Given the description of an element on the screen output the (x, y) to click on. 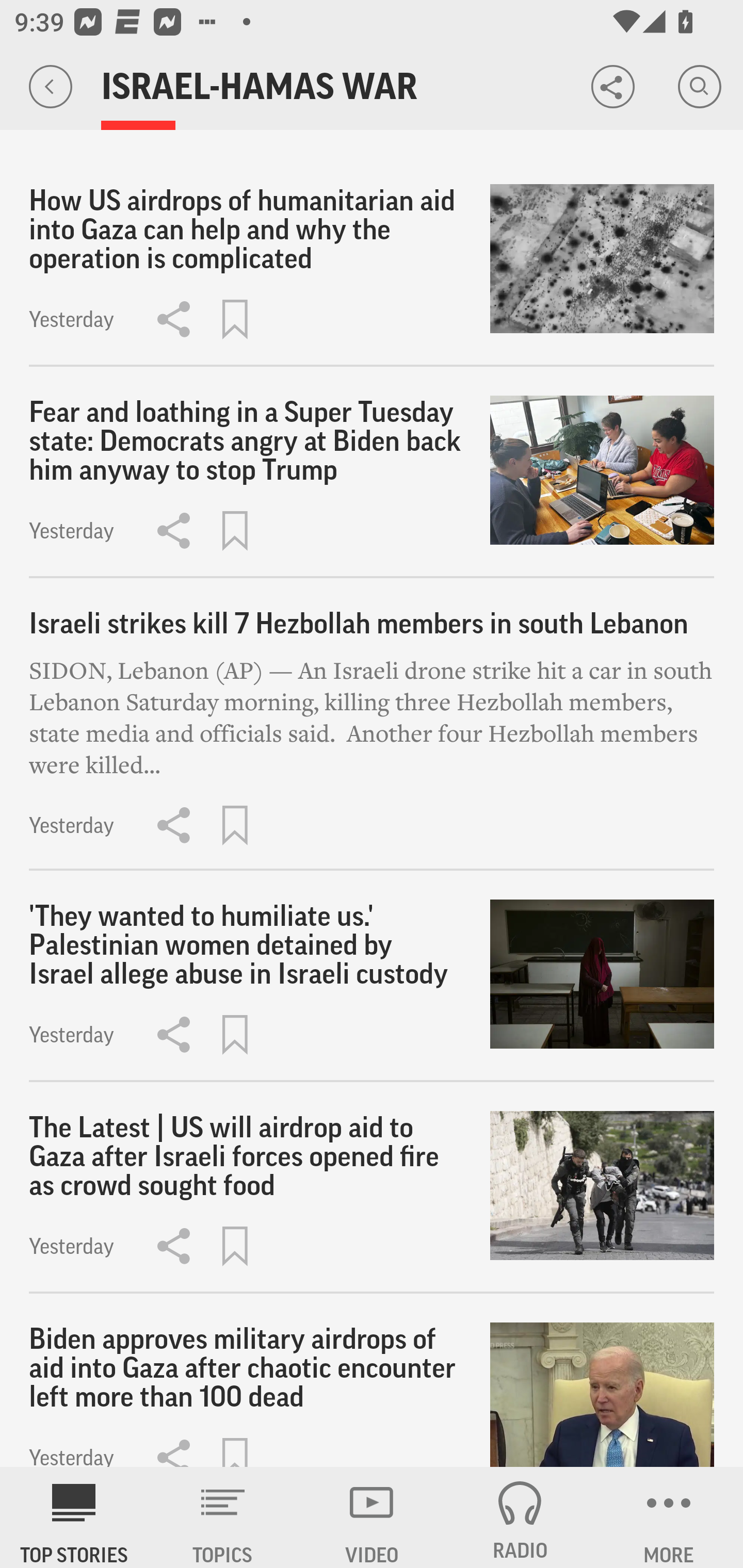
AP News TOP STORIES (74, 1517)
TOPICS (222, 1517)
VIDEO (371, 1517)
RADIO (519, 1517)
MORE (668, 1517)
